Given the description of an element on the screen output the (x, y) to click on. 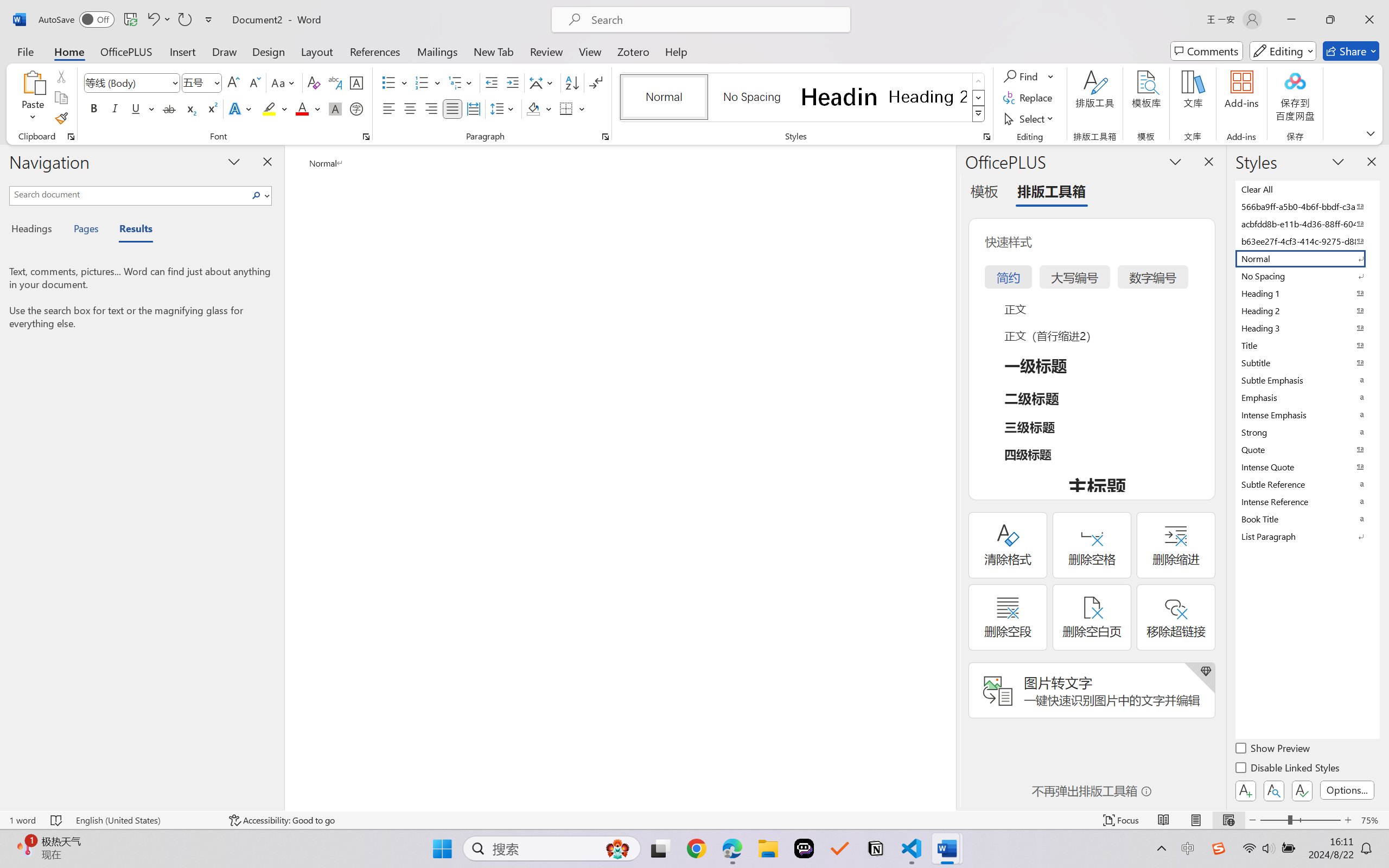
Grow Font (233, 82)
Mailings (437, 51)
Share (1350, 51)
Heading 1 (839, 96)
Emphasis (1306, 397)
Shading (539, 108)
Intense Reference (1306, 501)
Italic (115, 108)
Row Down (978, 97)
Increase Indent (512, 82)
